Given the description of an element on the screen output the (x, y) to click on. 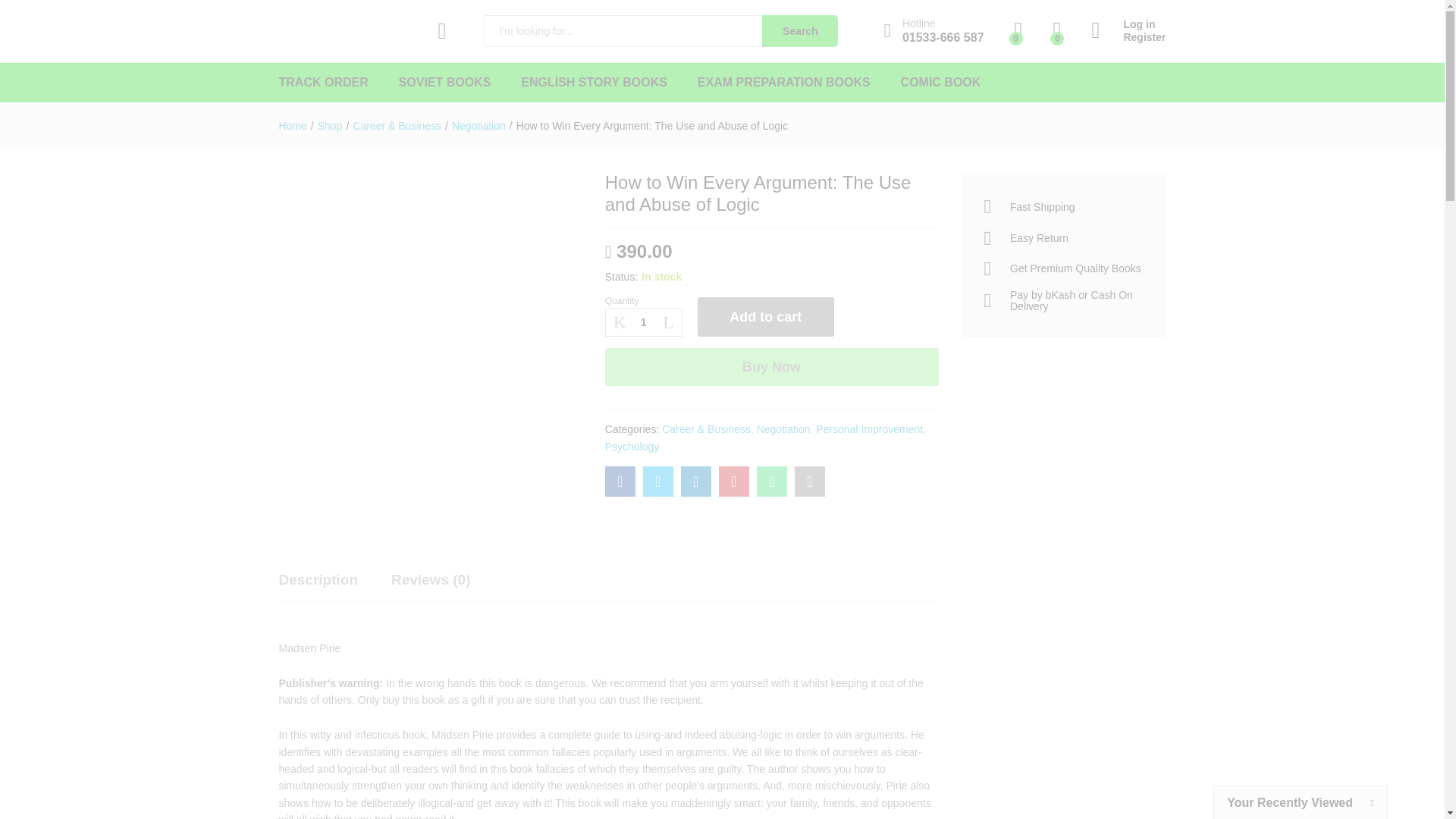
How to Win Every Argument: The Use and Abuse of Logic (772, 481)
How to Win Every Argument: The Use and Abuse of Logic (619, 481)
1 (643, 321)
Qty (643, 321)
How to Win Every Argument: The Use and Abuse of Logic (809, 481)
